Given the description of an element on the screen output the (x, y) to click on. 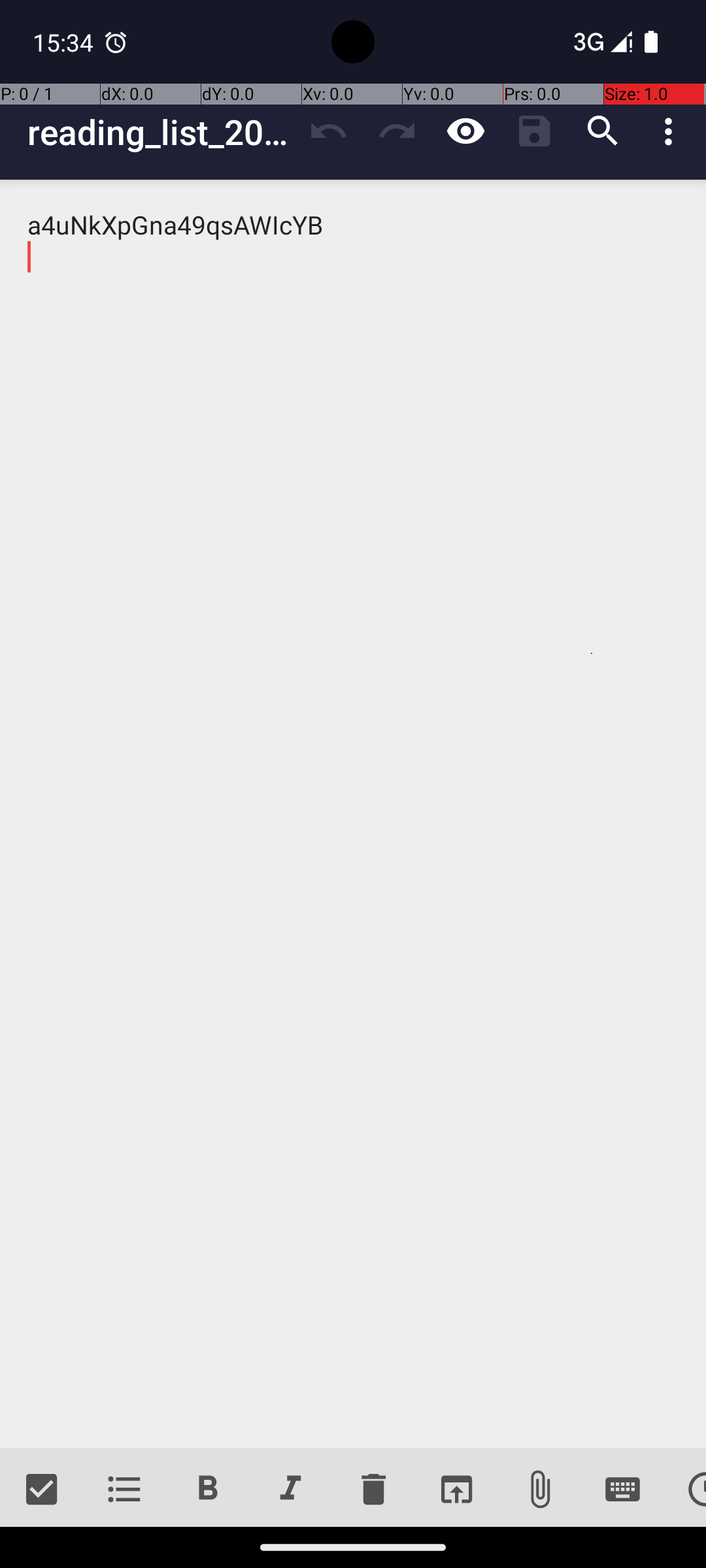
reading_list_2024_2023_09_17 Element type: android.widget.TextView (160, 131)
a4uNkXpGna49qsAWIcYB
 Element type: android.widget.EditText (353, 813)
